Given the description of an element on the screen output the (x, y) to click on. 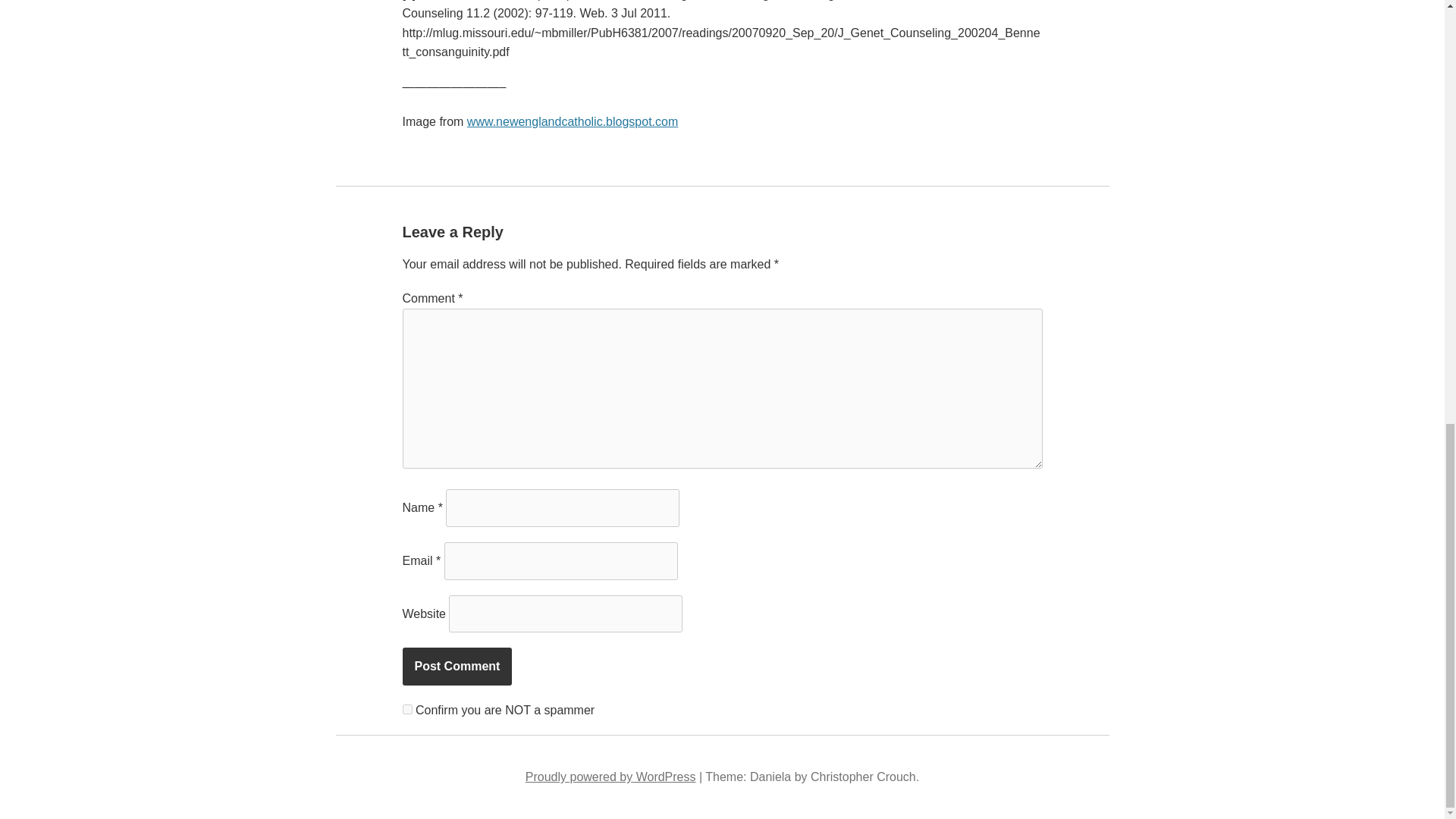
Post Comment (456, 666)
Post Comment (456, 666)
www.newenglandcatholic.blogspot.com (572, 121)
Proudly powered by WordPress (610, 776)
on (406, 709)
